Given the description of an element on the screen output the (x, y) to click on. 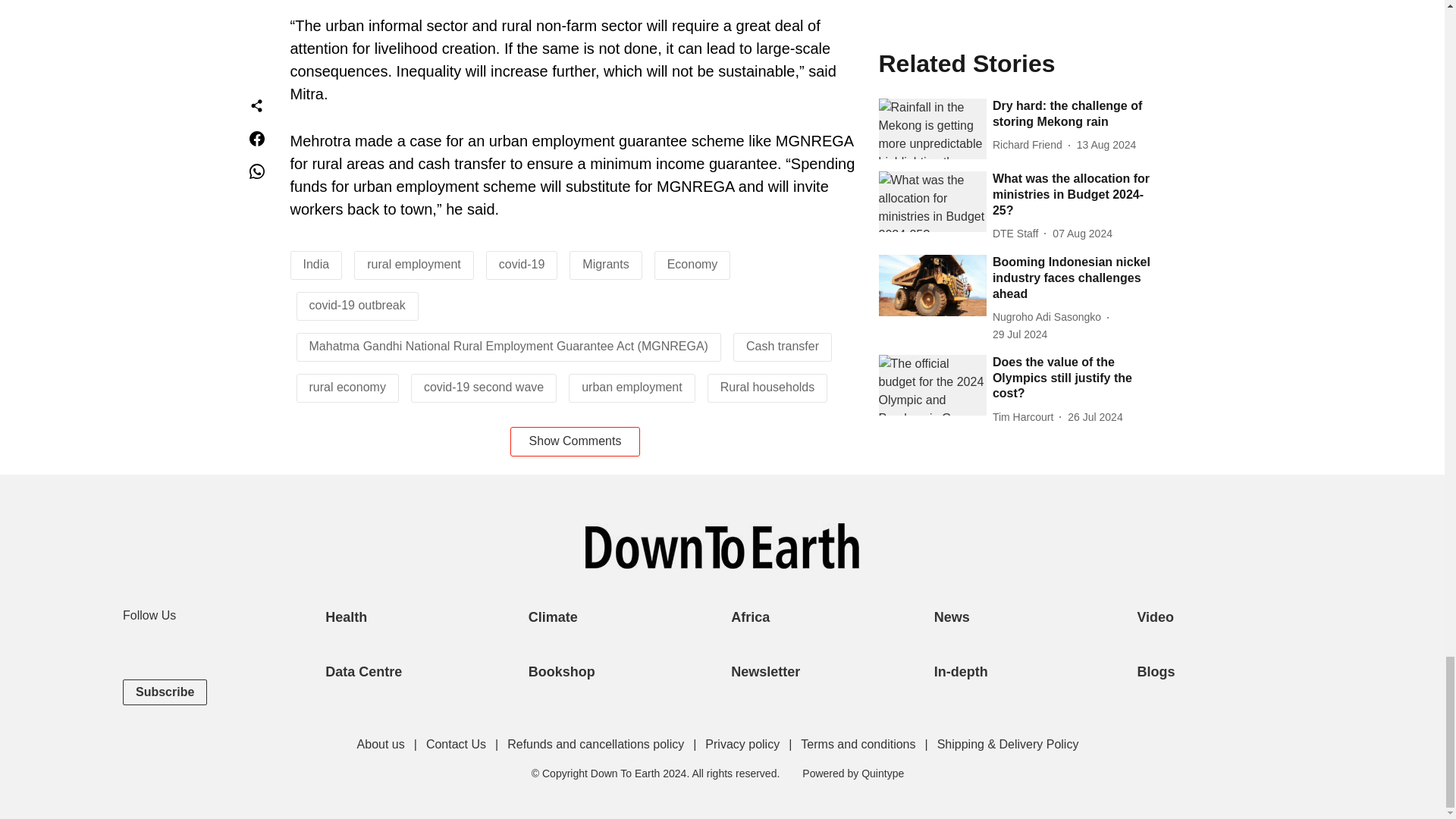
India (316, 264)
covid-19 (521, 264)
rural employment (413, 264)
